Given the description of an element on the screen output the (x, y) to click on. 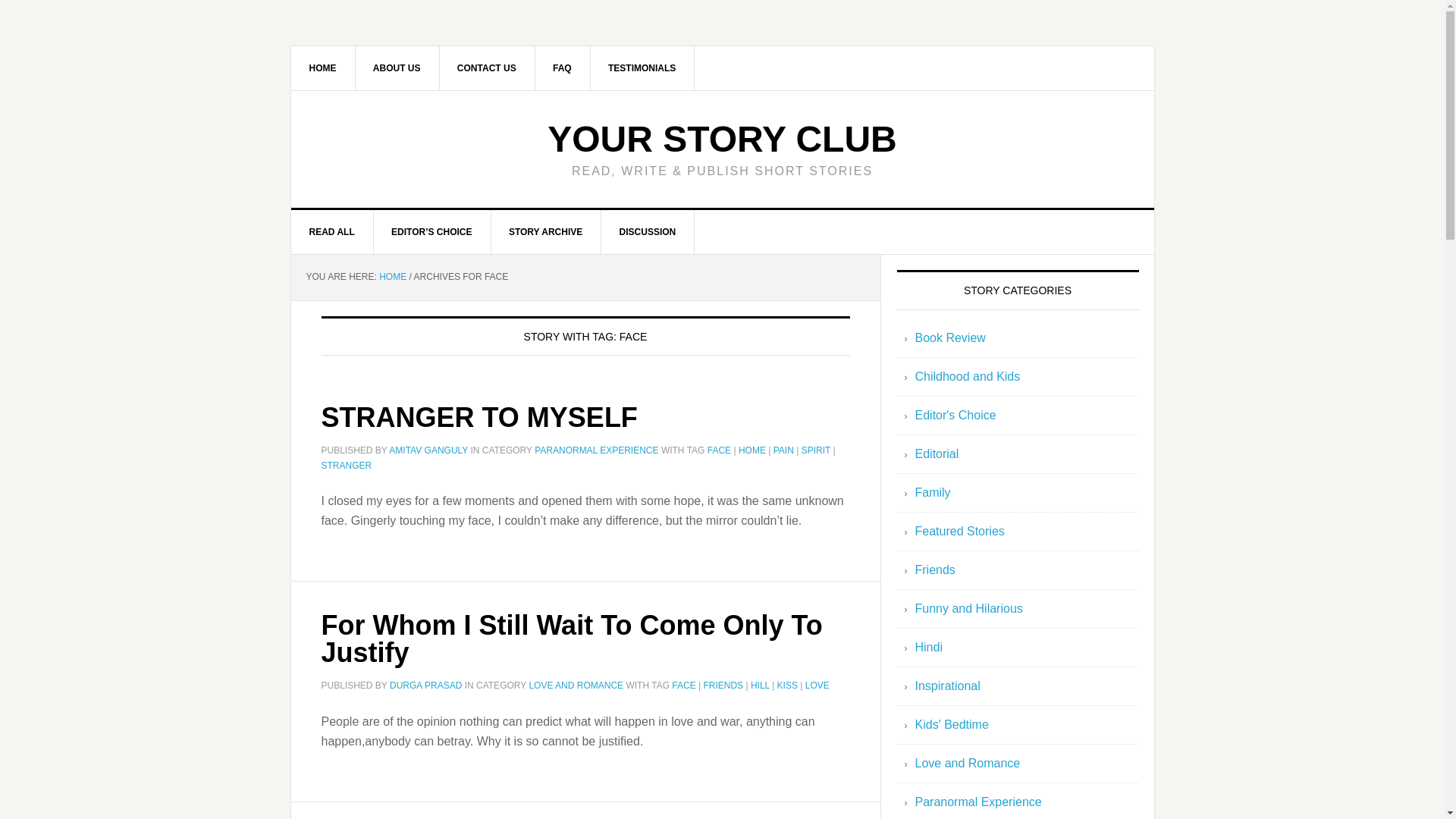
SPIRIT (815, 450)
Frequently Asked Questions (562, 67)
AMITAV GANGULY (427, 450)
HILL (760, 685)
FAQ (562, 67)
Read what our writers say about us (641, 67)
ABOUT US (397, 67)
HOME (392, 276)
LOVE (817, 685)
STORY ARCHIVE (545, 231)
FACE (683, 685)
LOVE AND ROMANCE (575, 685)
HOME (751, 450)
